Given the description of an element on the screen output the (x, y) to click on. 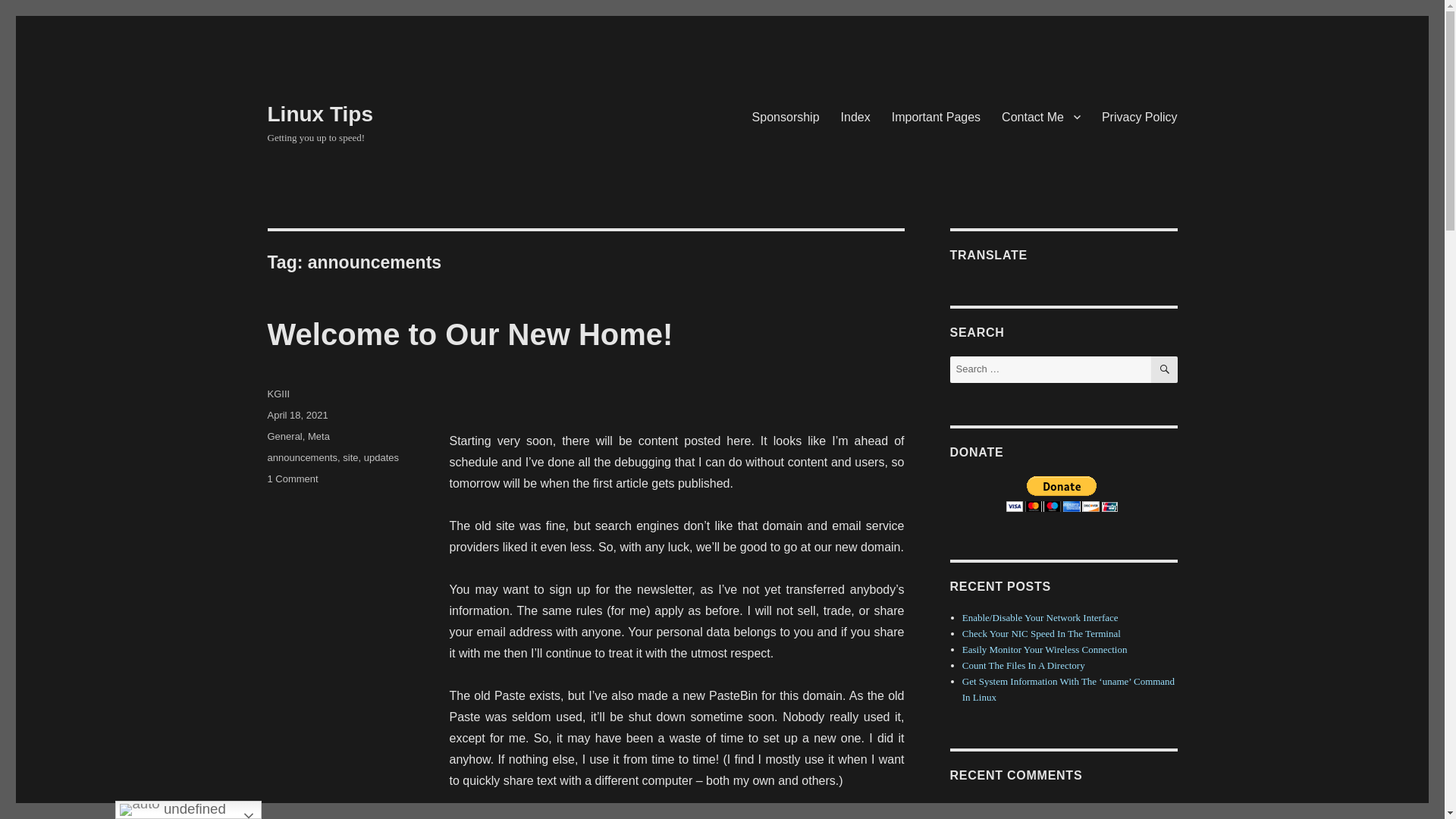
Welcome to Our New Home! (469, 334)
Important Pages (935, 116)
announcements (301, 457)
April 18, 2021 (296, 414)
Privacy Policy (1139, 116)
General (283, 436)
KGIII (277, 393)
Sponsorship (785, 116)
Meta (318, 436)
Index (291, 478)
undefined (854, 116)
Linux Tips (188, 809)
updates (319, 114)
Contact Me (381, 457)
